Given the description of an element on the screen output the (x, y) to click on. 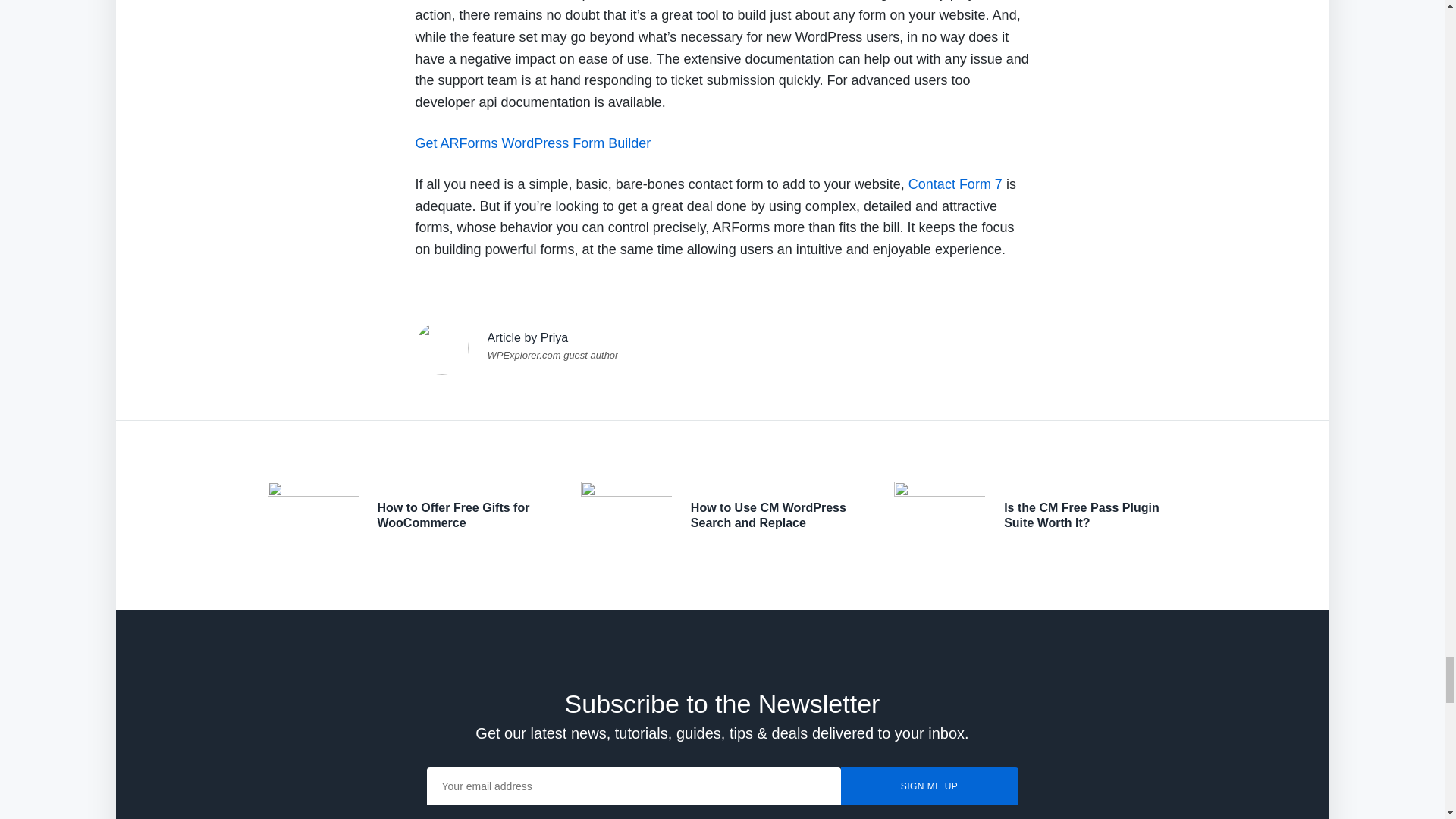
Is the CM Free Pass Plugin Suite Worth It? (1081, 515)
How to Offer Free Gifts for WooCommerce (453, 515)
SIGN ME UP (928, 786)
Get ARForms WordPress Form Builder (532, 142)
Contact Form 7 (955, 183)
How to Use CM WordPress Search and Replace (767, 515)
